Given the description of an element on the screen output the (x, y) to click on. 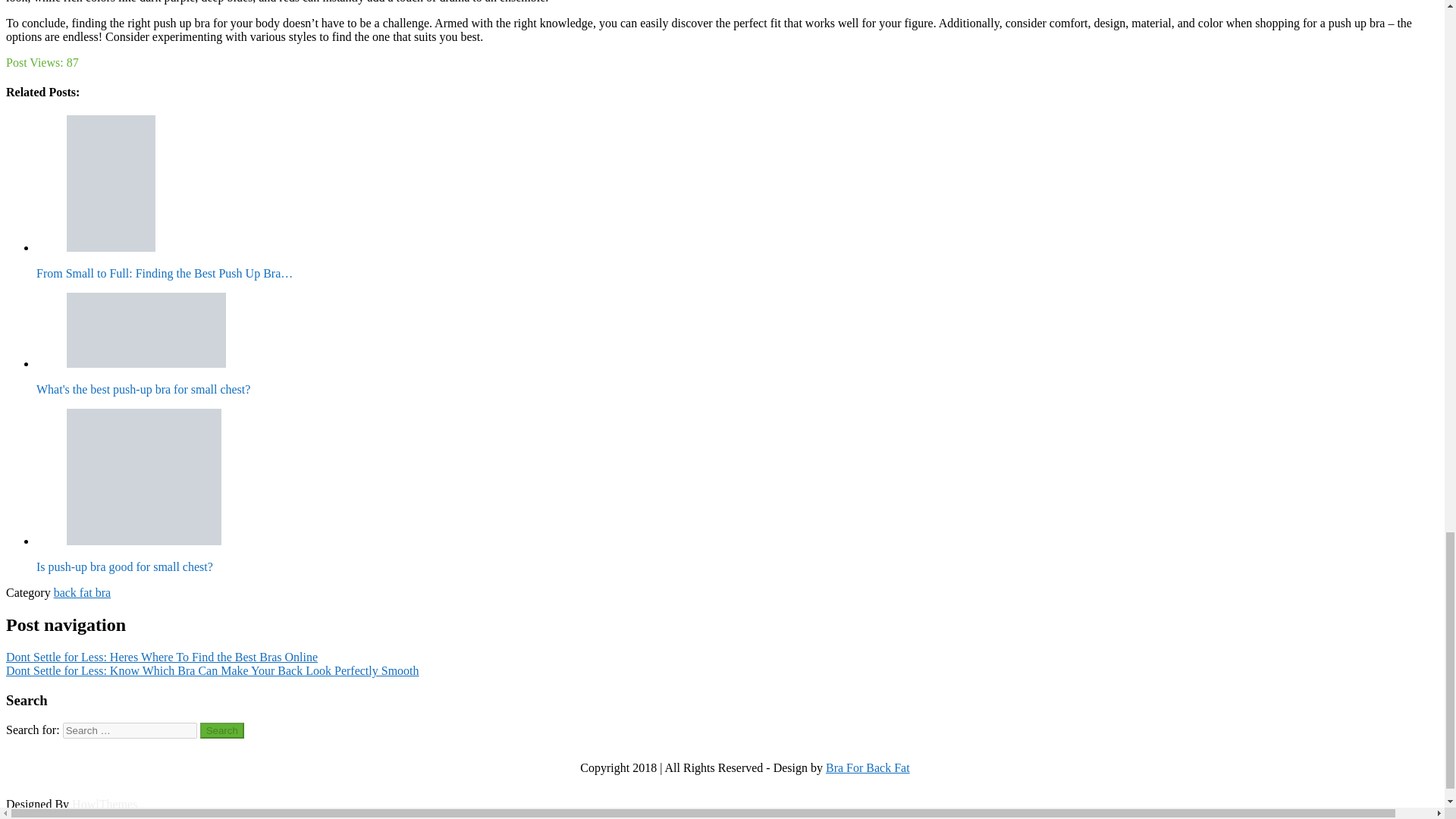
Search (222, 730)
What's the best push-up bra for small chest? (145, 329)
Search (222, 730)
back fat bra (82, 592)
Is push-up bra good for small chest? (143, 476)
